Given the description of an element on the screen output the (x, y) to click on. 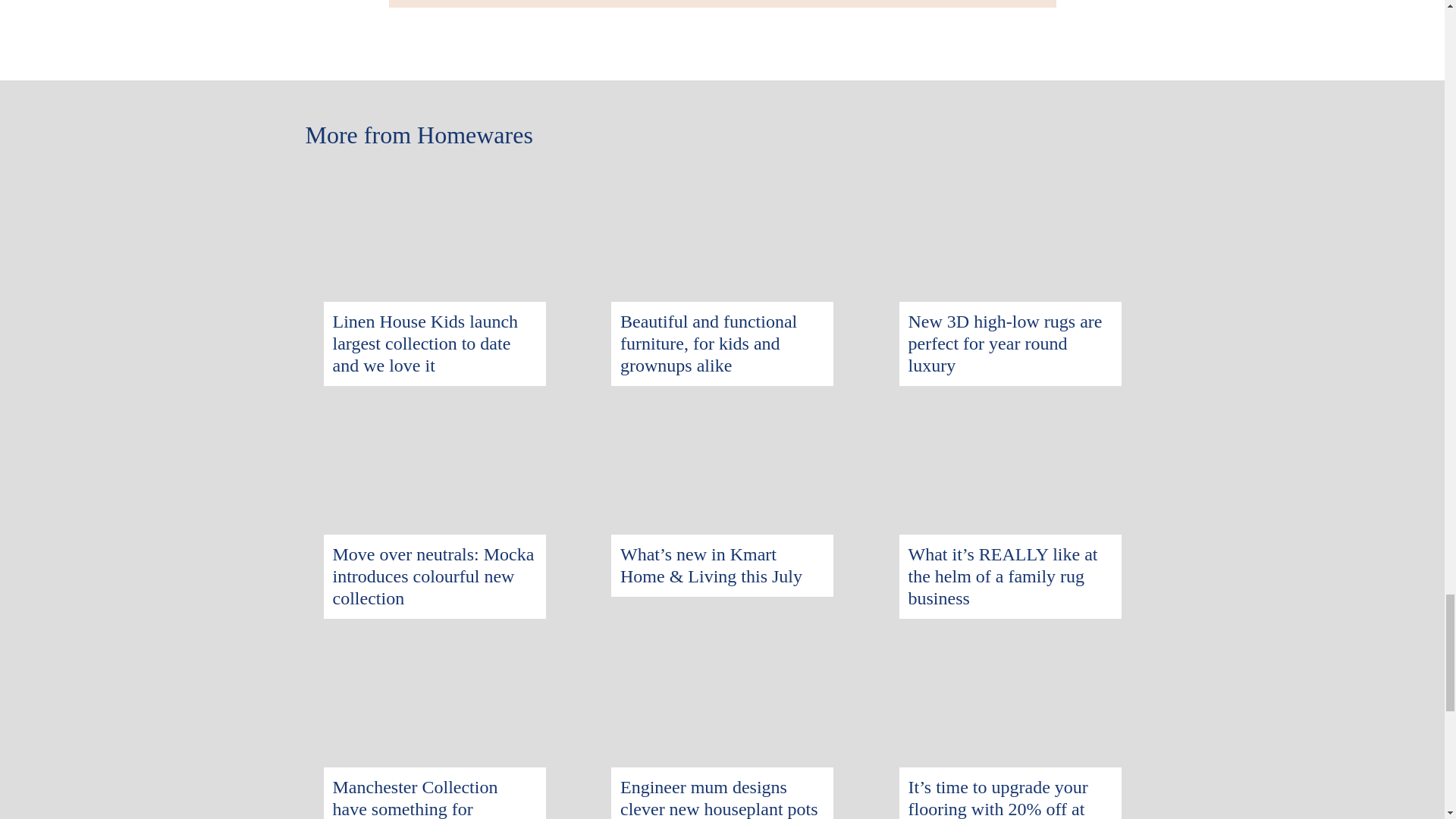
New 3D high-low rugs are perfect for year round luxury (1010, 179)
New 3D high-low rugs are perfect for year round luxury (1005, 343)
